Given the description of an element on the screen output the (x, y) to click on. 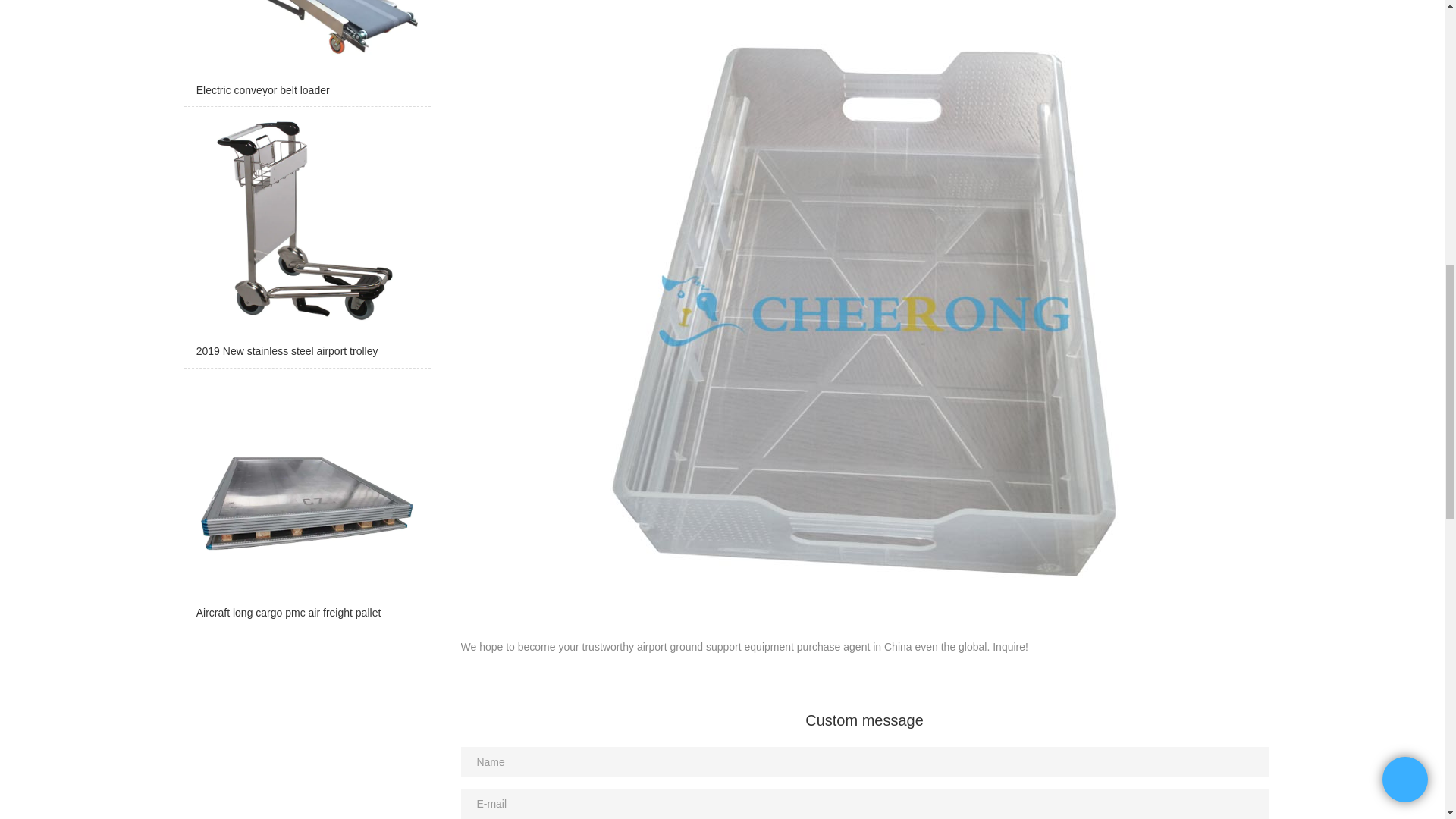
Electric conveyor belt loader (306, 53)
2019 New stainless steel airport trolley (306, 240)
Aircraft long cargo pmc air freight pallet (306, 502)
